Given the description of an element on the screen output the (x, y) to click on. 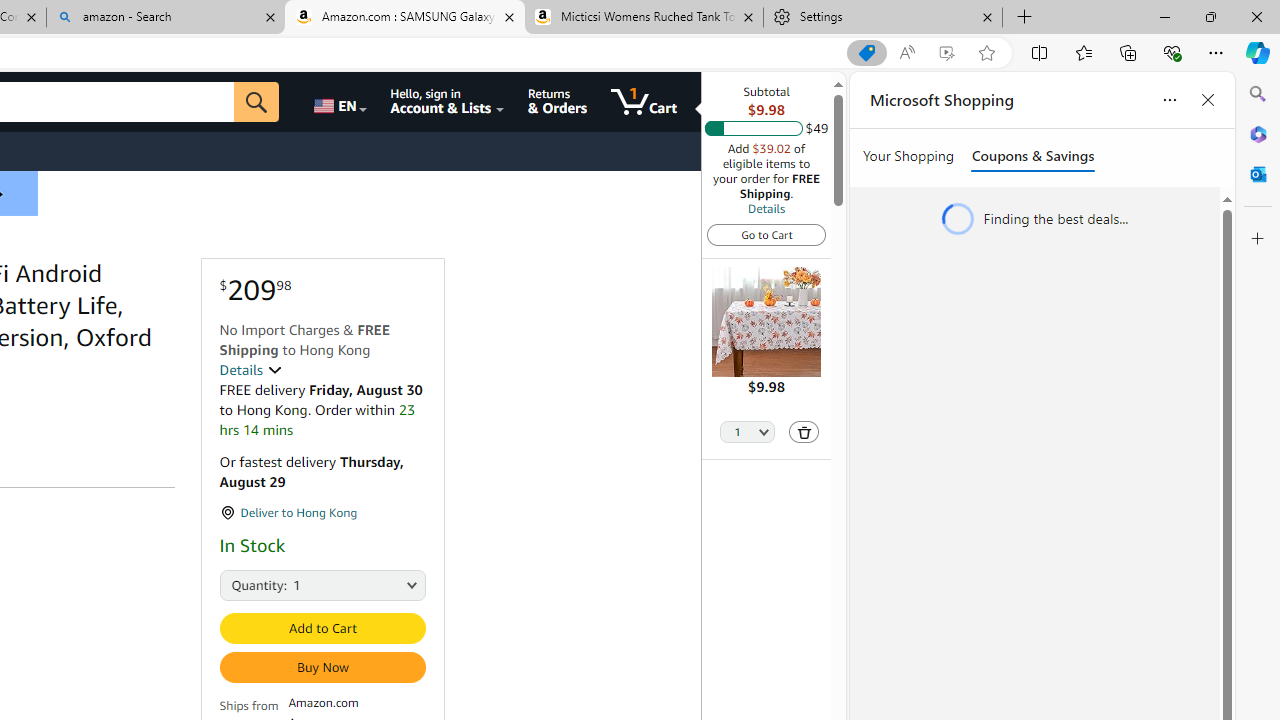
Details  (250, 370)
Delete (804, 431)
amazon - Search (166, 17)
Enhance video (946, 53)
